Given the description of an element on the screen output the (x, y) to click on. 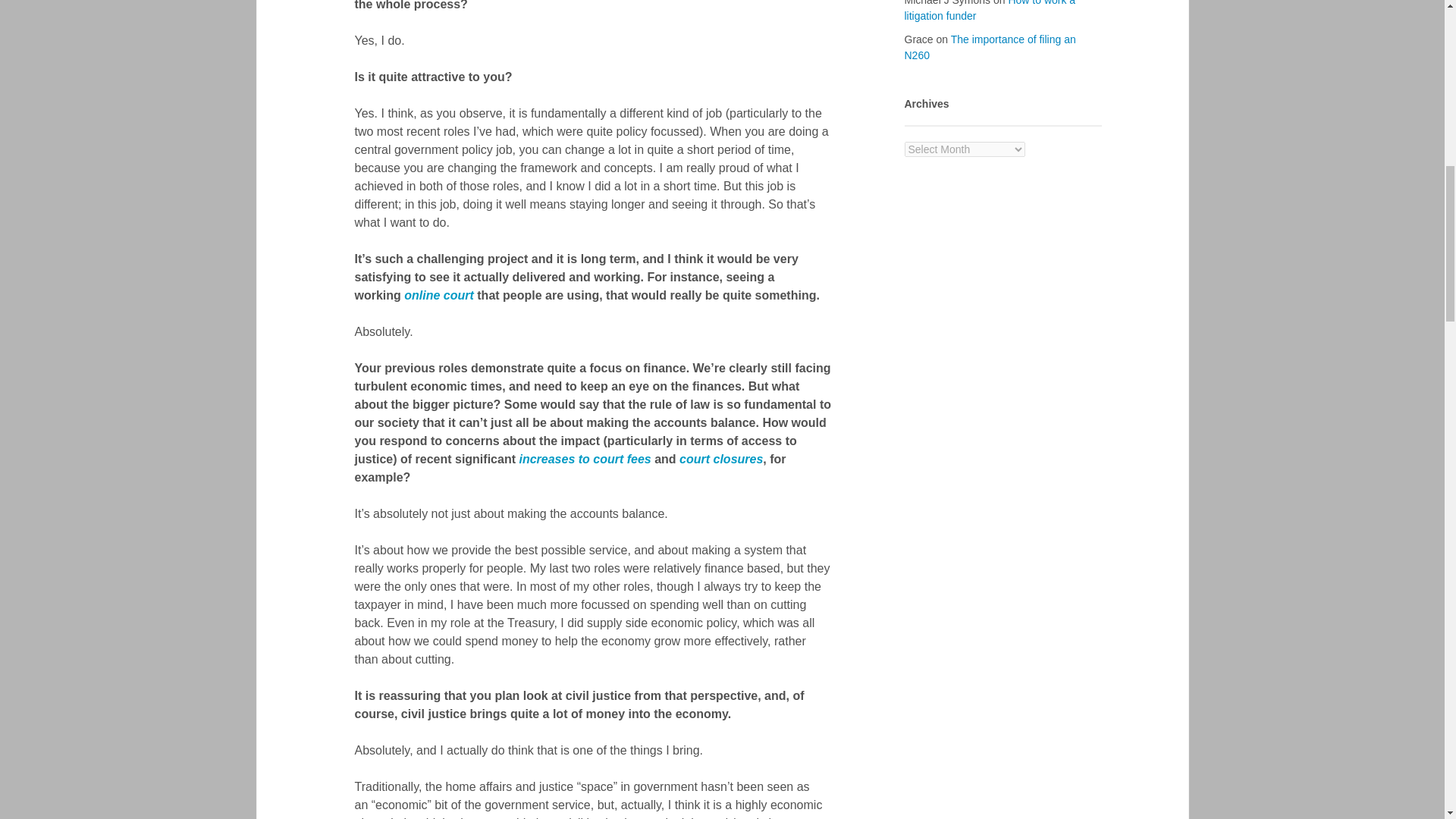
How to work a litigation funder (989, 11)
The importance of filing an N260 (989, 47)
Legal update, Revised trial fees from Monday 6 March 2017 (584, 459)
court closures (720, 459)
increases to court fees (584, 459)
online court (439, 295)
